Given the description of an element on the screen output the (x, y) to click on. 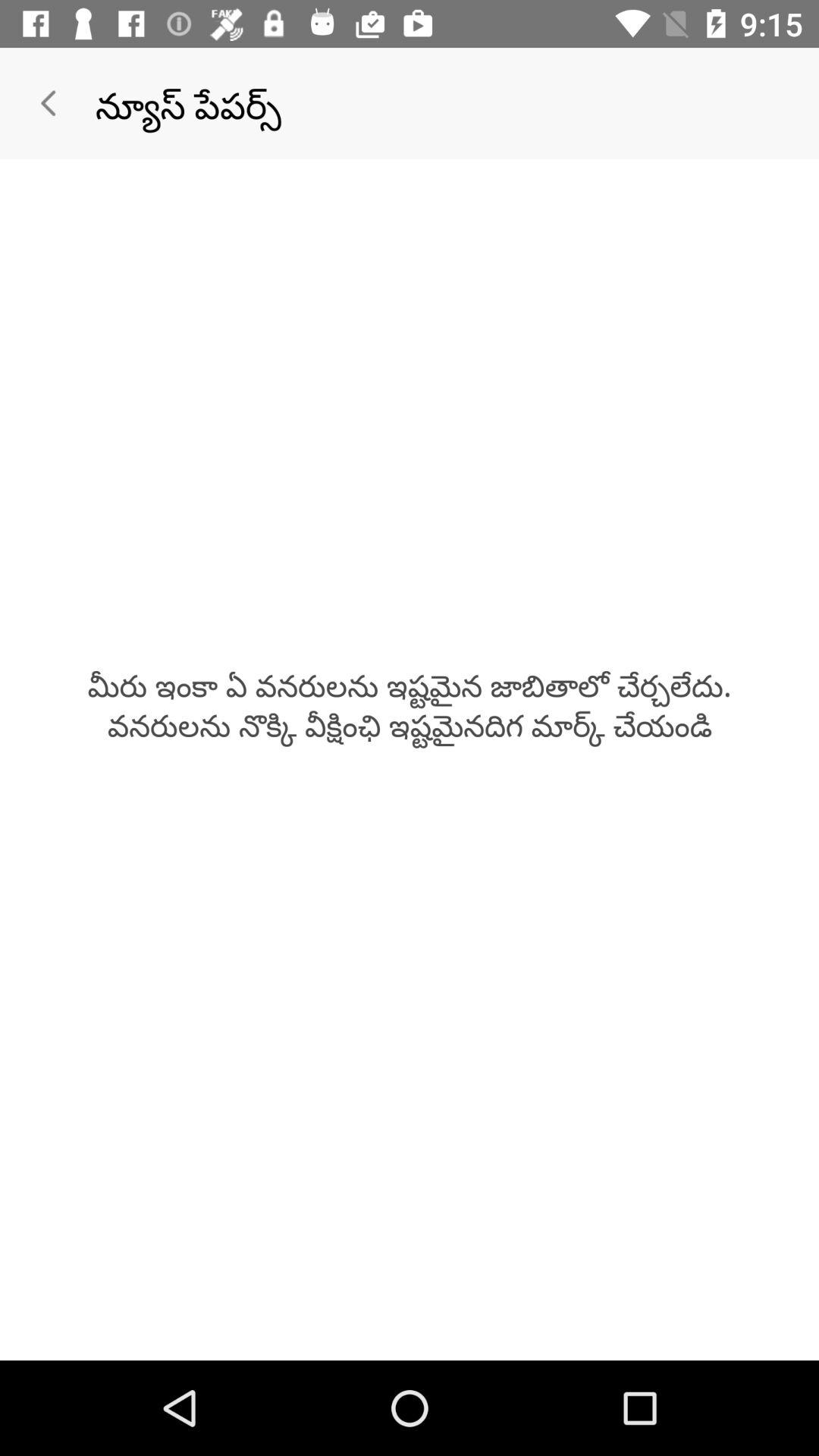
select the icon at the center (409, 703)
